Given the description of an element on the screen output the (x, y) to click on. 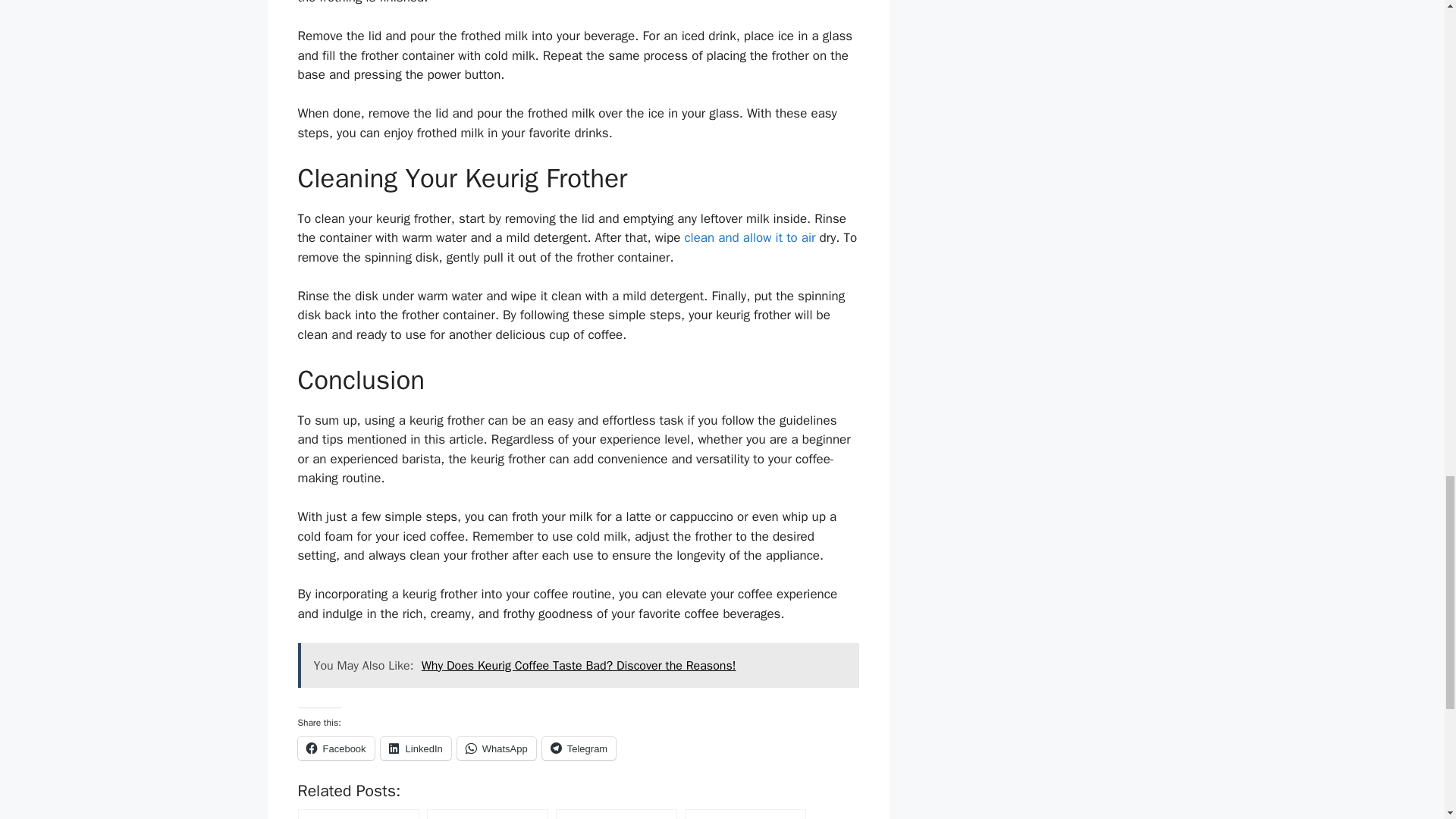
What Does C-F2 Mean on Samsung Stove? (358, 813)
Click to share on LinkedIn (415, 748)
clean and allow it to air (749, 237)
How to Descale Nespresso Vertuo: Everything You Need to Know (616, 813)
How to Clean Your Haier Air Conditioner: A Complete Guide (749, 237)
Click to share on WhatsApp (496, 748)
Click to share on Facebook (335, 748)
How to Turn off Descale Light on Keurig? (487, 813)
Click to share on Telegram (578, 748)
